Given the description of an element on the screen output the (x, y) to click on. 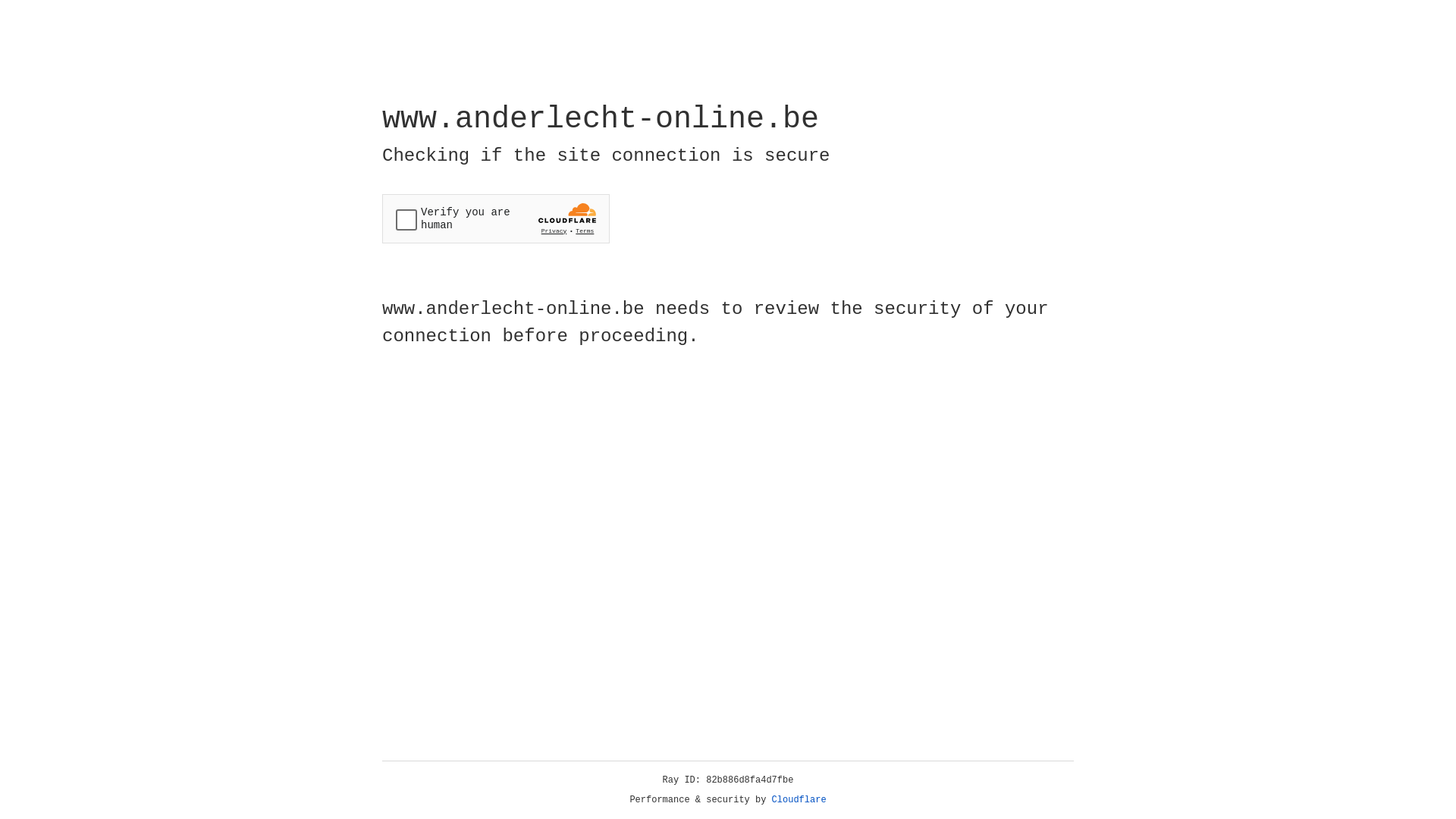
Cloudflare Element type: text (798, 799)
Widget containing a Cloudflare security challenge Element type: hover (495, 218)
